Given the description of an element on the screen output the (x, y) to click on. 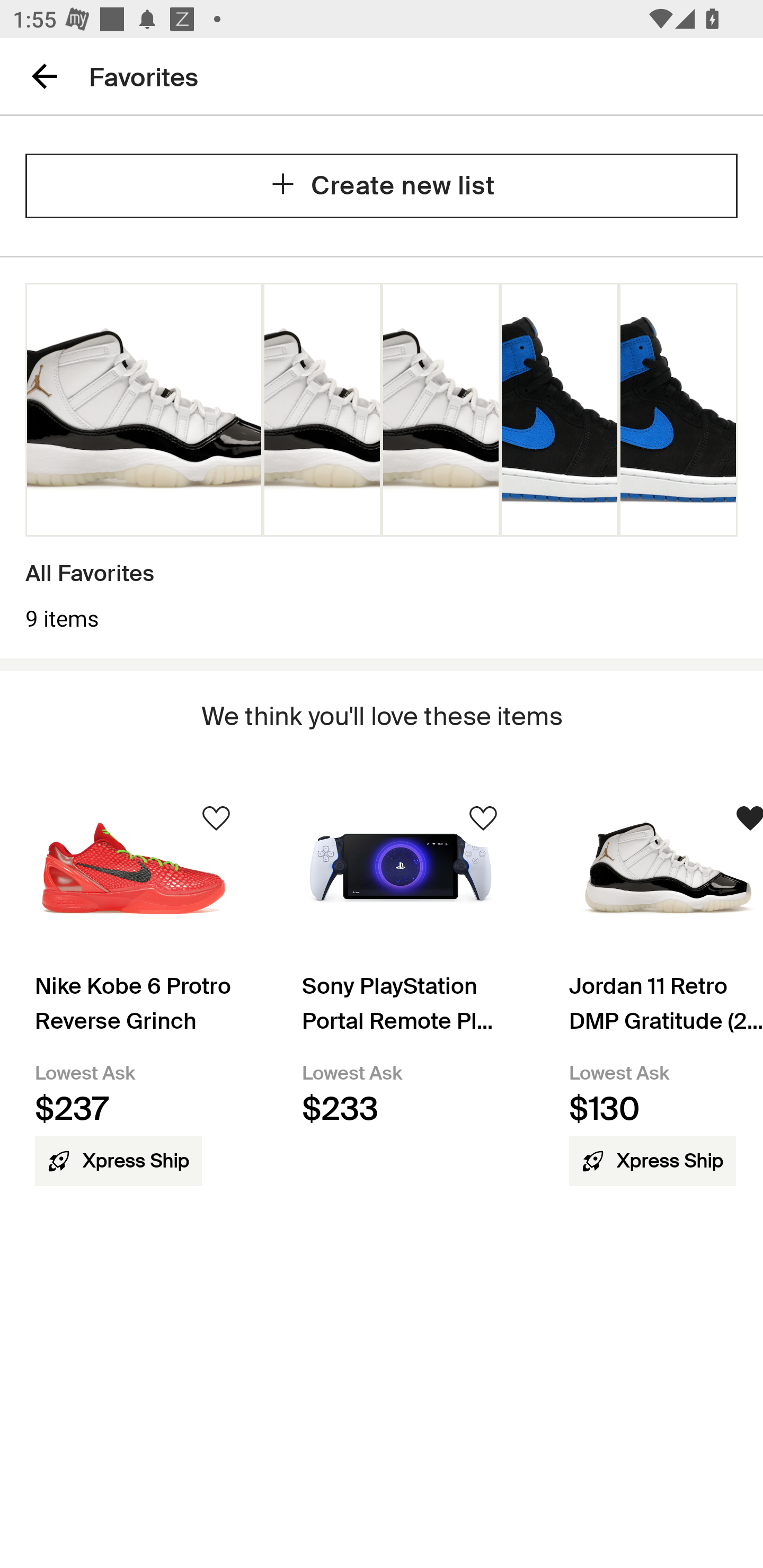
Create new list (381, 185)
All Favorites 9 items (381, 457)
